Given the description of an element on the screen output the (x, y) to click on. 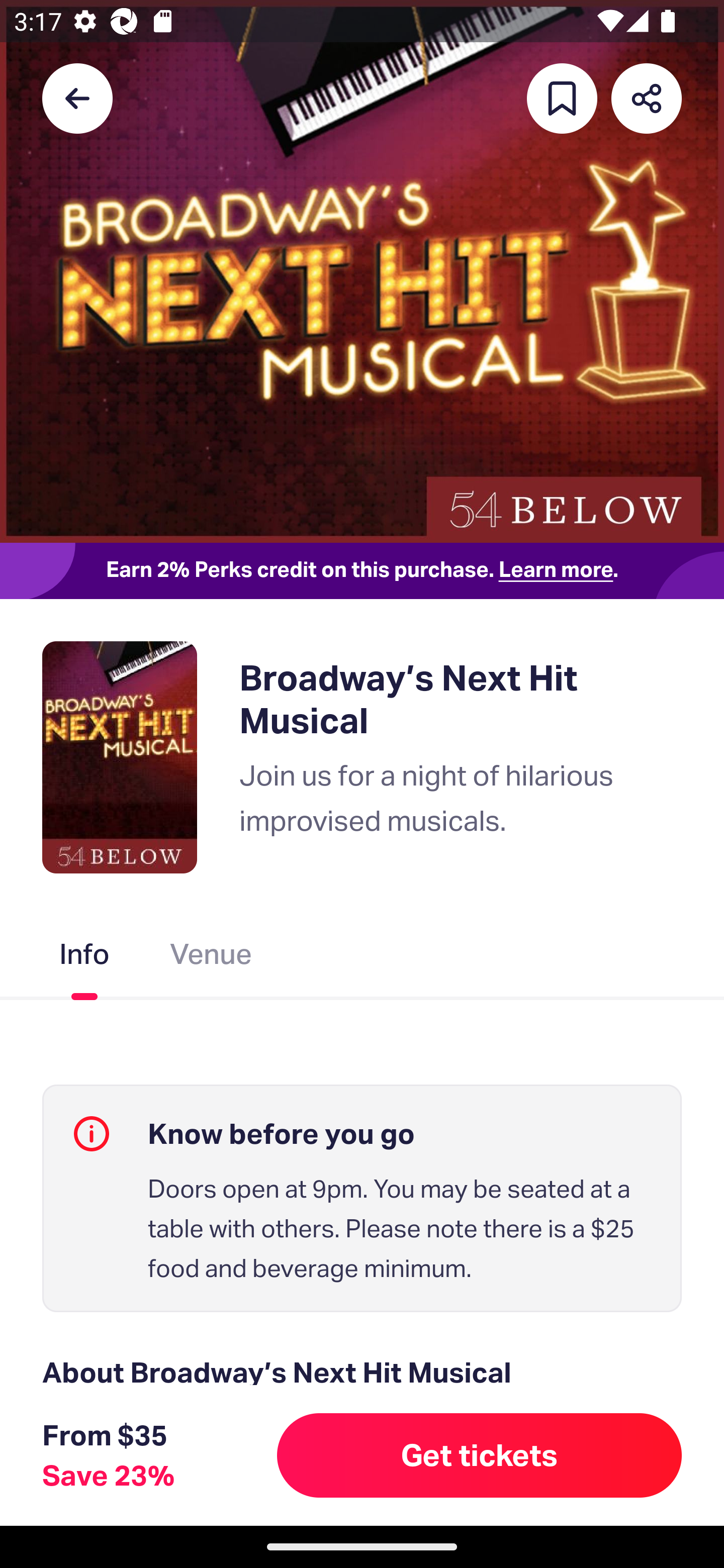
Earn 2% Perks credit on this purchase. Learn more. (362, 570)
Venue (210, 957)
About Broadway’s Next Hit Musical (361, 1372)
Get tickets (479, 1454)
